Given the description of an element on the screen output the (x, y) to click on. 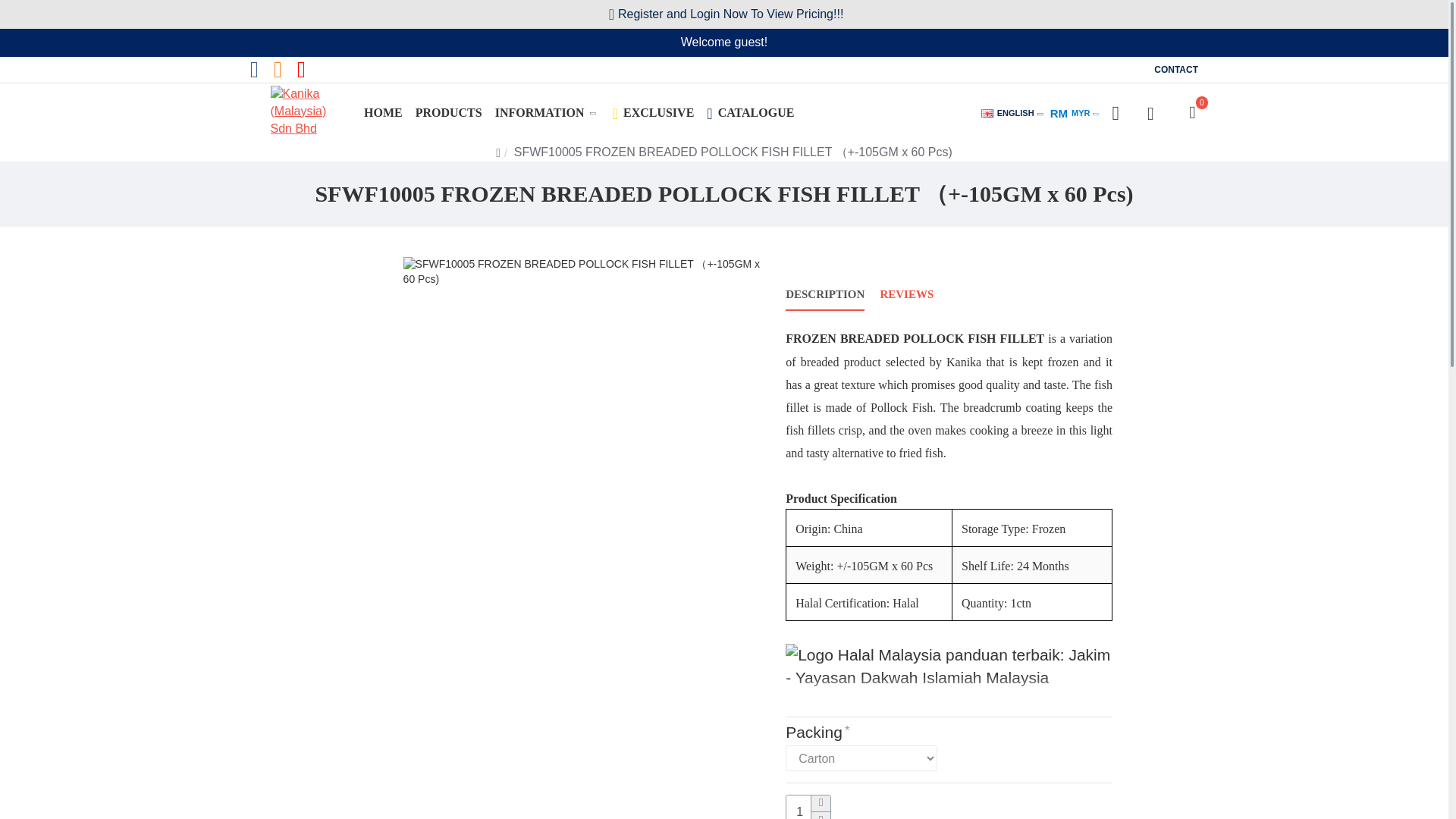
INFORMATION (548, 113)
1 (807, 807)
EXCLUSIVE (653, 113)
English (1069, 113)
CATALOGUE (986, 112)
CONTACT (750, 113)
PRODUCTS (1176, 69)
ENGLISH (449, 113)
HOME (1007, 113)
Register and Login Now To View Pricing!!! (382, 113)
